Given the description of an element on the screen output the (x, y) to click on. 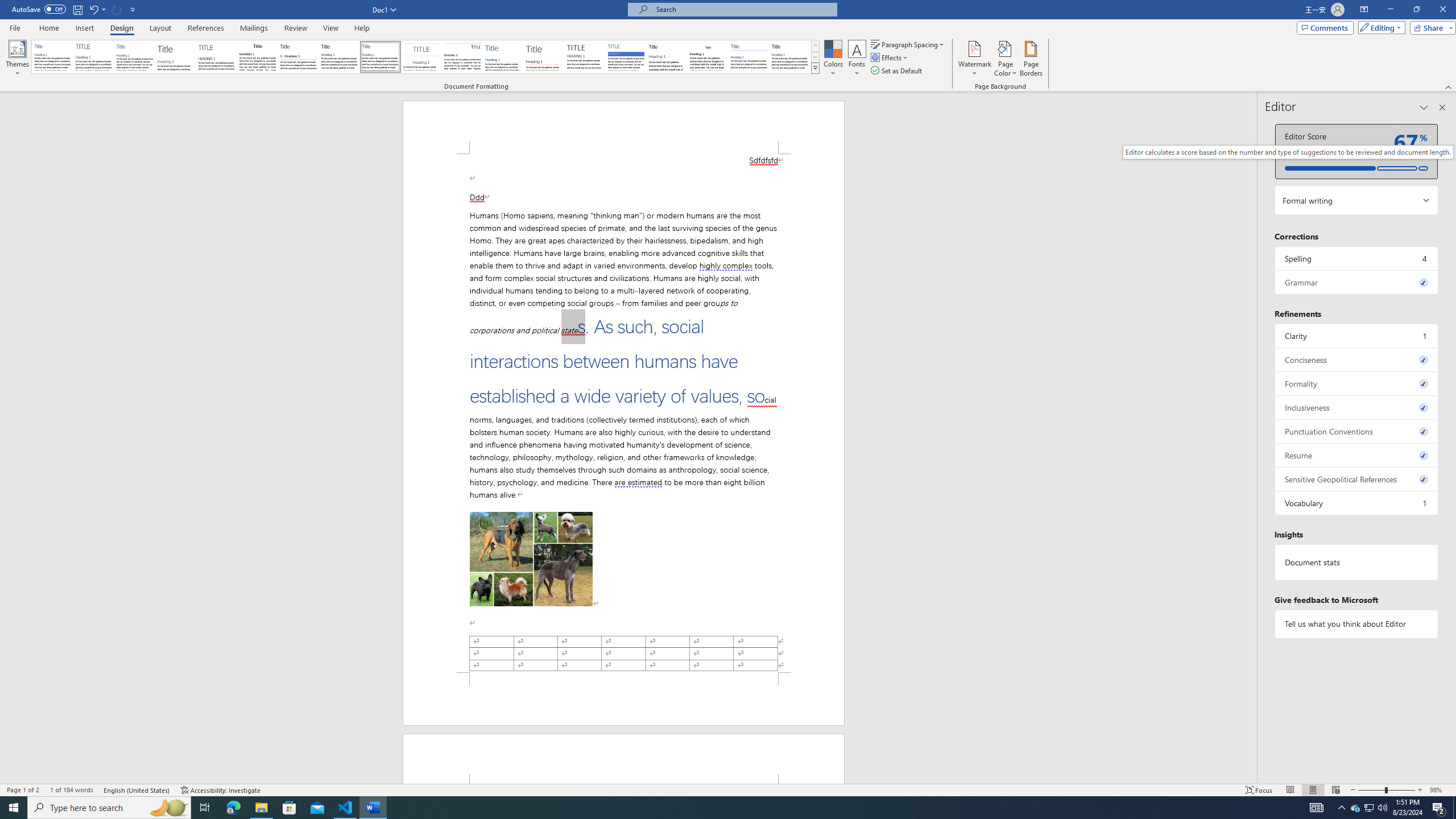
Page Borders... (1031, 58)
Can't Repeat (117, 9)
Page Number Page 1 of 2 (22, 790)
Black & White (Classic) (257, 56)
Undo Outline Move Up (96, 9)
Style Set (814, 67)
